Given the description of an element on the screen output the (x, y) to click on. 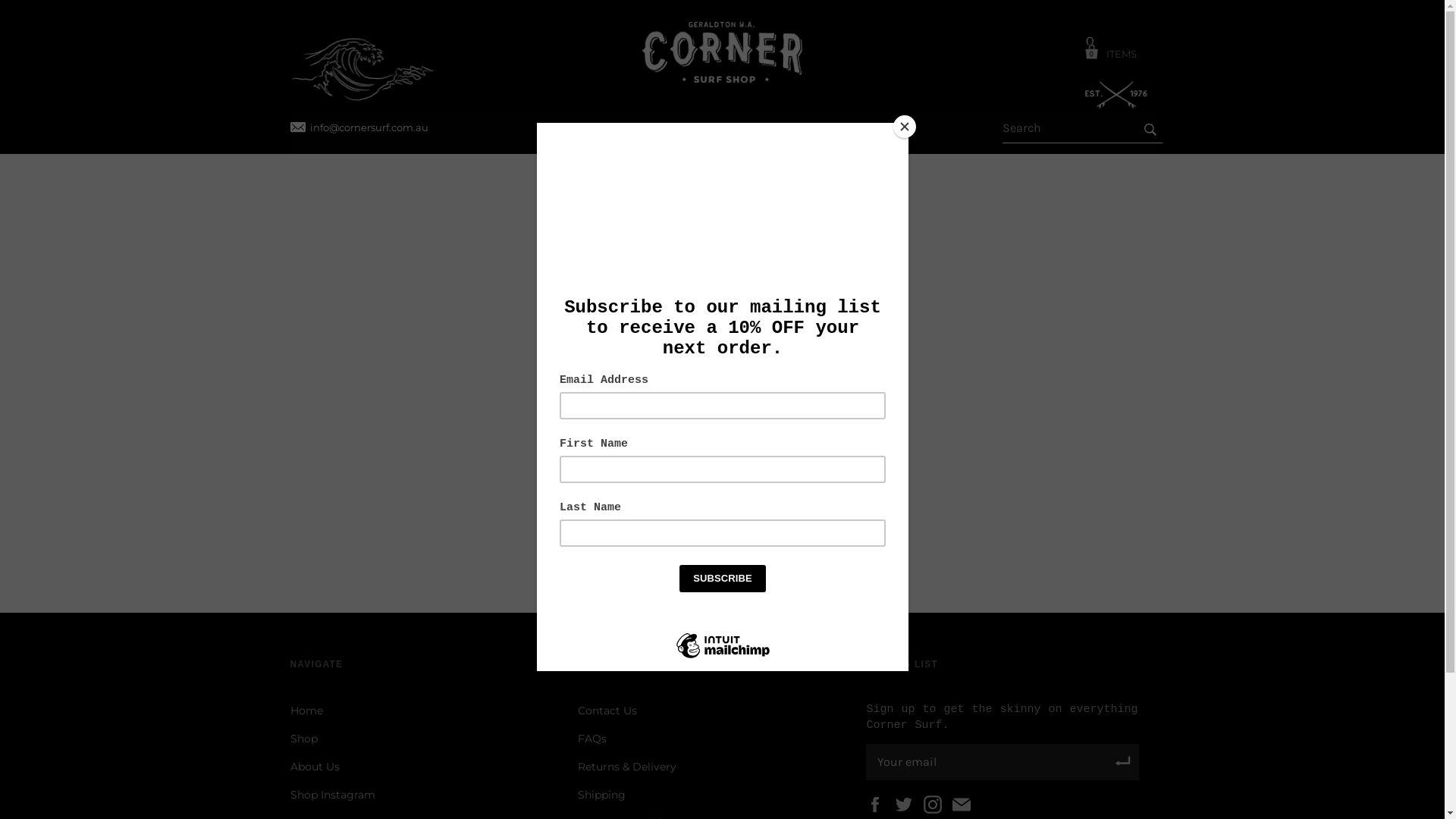
Shipping Element type: text (601, 794)
FAQs Element type: text (591, 738)
HOME Element type: text (599, 133)
info@cornersurf.com.au Element type: text (358, 127)
Shop Element type: text (302, 738)
CONTINUE SHOPPING Element type: text (721, 426)
Twitter Element type: text (907, 804)
Instagram Element type: text (936, 804)
Returns & Delivery Element type: text (626, 766)
CONTACT Element type: text (834, 133)
0 ITEMS Element type: text (1116, 47)
SHOP Element type: text (674, 133)
About Us Element type: text (313, 766)
Mail Element type: text (965, 804)
Facebook Element type: text (878, 804)
Shop Instagram Element type: text (331, 794)
Contact Us Element type: text (607, 710)
Home Element type: text (305, 710)
SUBSCRIBE Element type: text (1123, 761)
ABOUT Element type: text (752, 133)
